Given the description of an element on the screen output the (x, y) to click on. 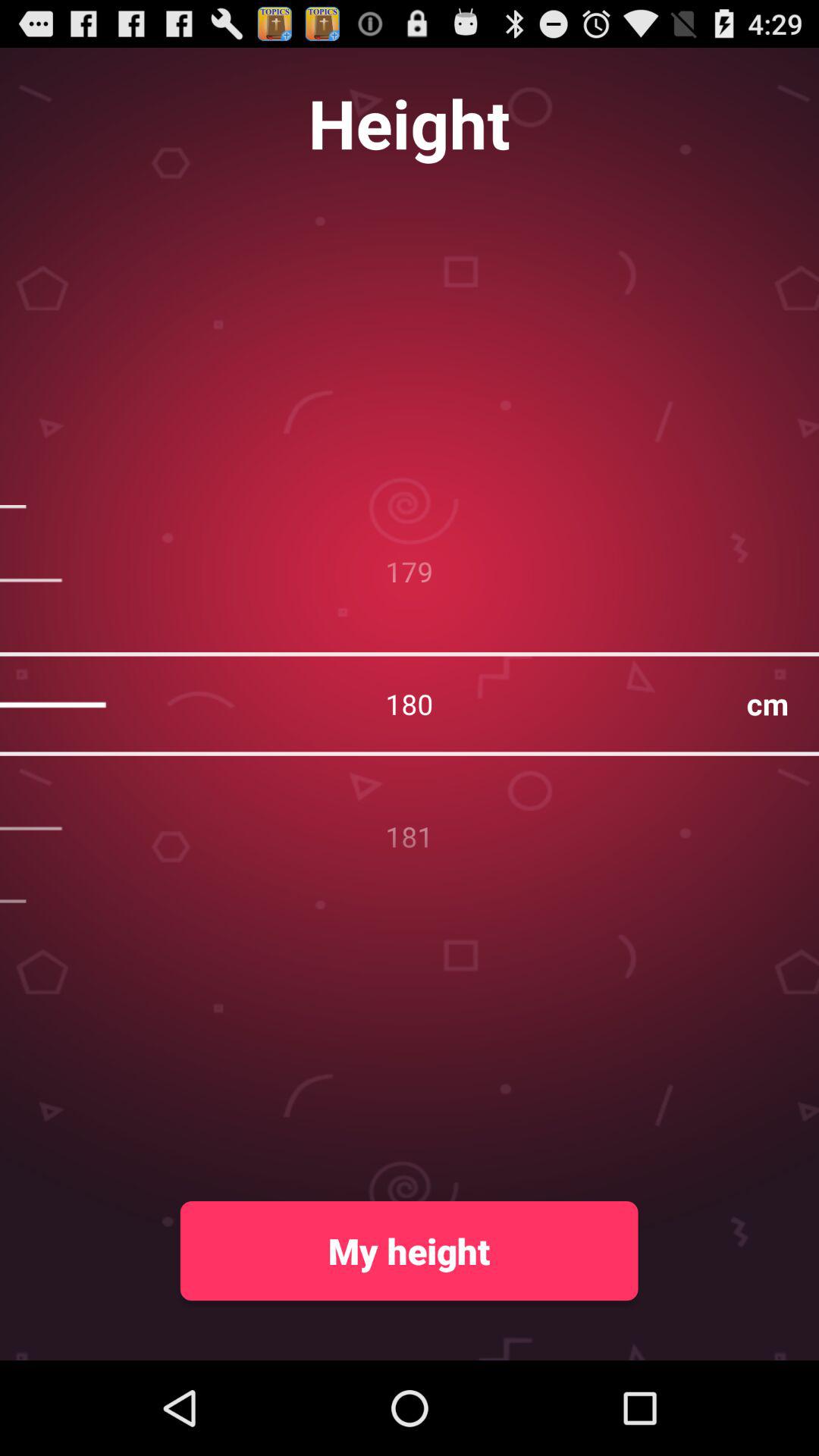
press the my height at the bottom (409, 1250)
